Given the description of an element on the screen output the (x, y) to click on. 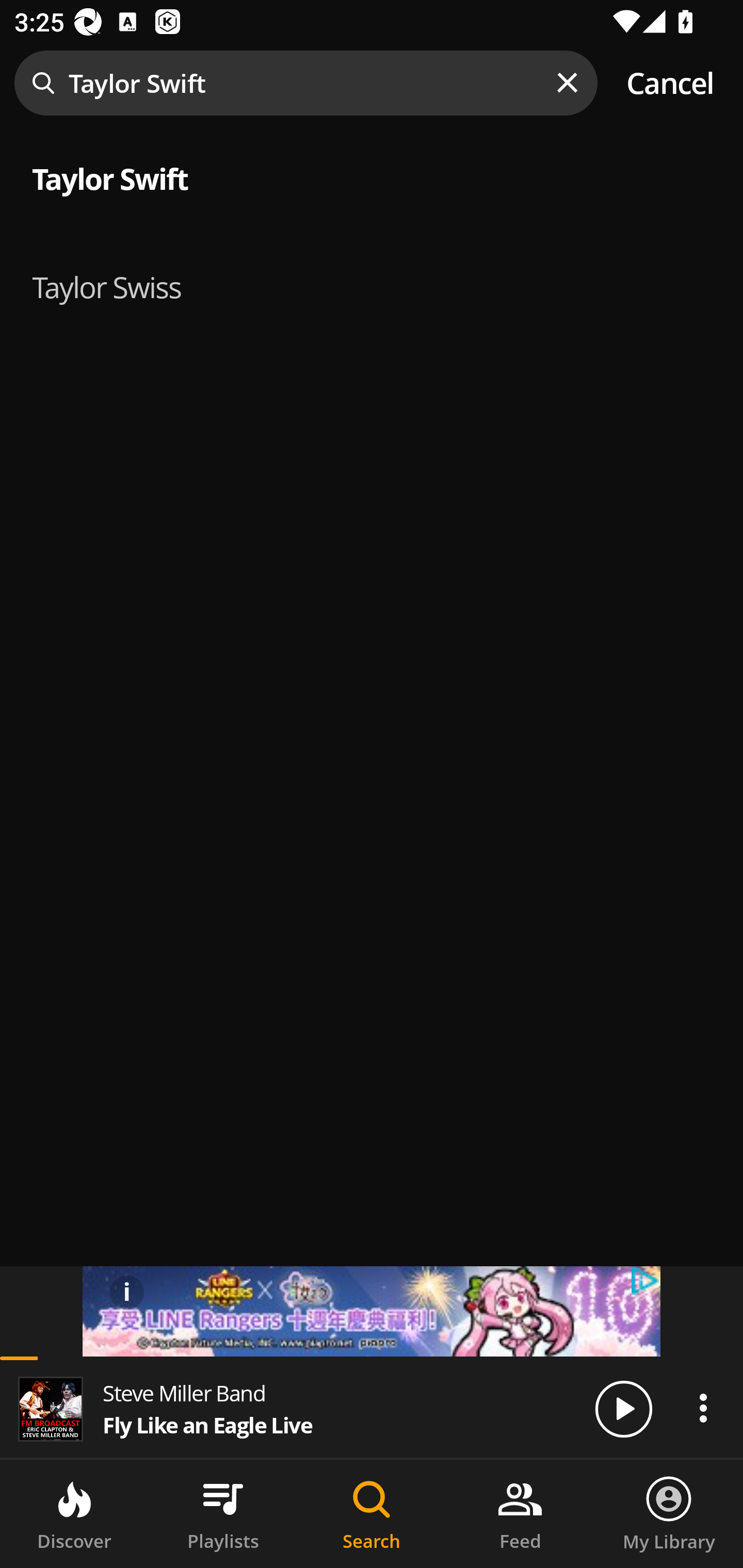
Taylor Swift Cancel (371, 82)
Cancel (670, 82)
Taylor Swift (371, 176)
All Country Afrosounds Pop Caribbean (371, 275)
Actions (703, 1407)
Play/Pause (623, 1408)
Discover (74, 1513)
Playlists (222, 1513)
Search (371, 1513)
Feed (519, 1513)
My Library (668, 1513)
